Given the description of an element on the screen output the (x, y) to click on. 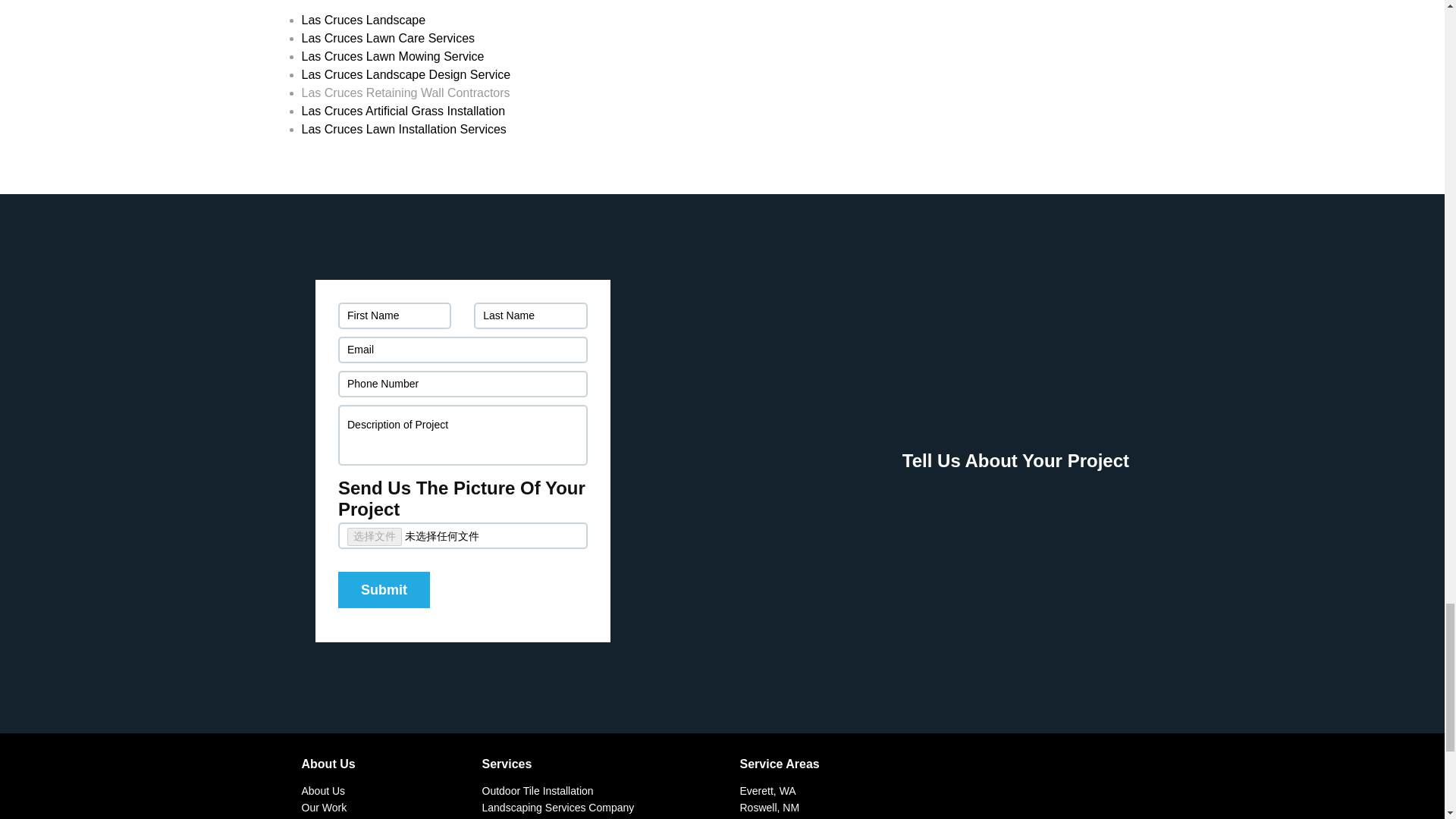
Email (462, 349)
Las Cruces Artificial Grass Installation (403, 110)
Las Cruces Landscape Design Service (406, 74)
First Name (394, 315)
Phone Number (462, 384)
Las Cruces Landscape (363, 19)
Submit (383, 589)
Las Cruces Lawn Mowing Service (392, 56)
Las Cruces Lawn Installation Services (403, 128)
Las Cruces Lawn Care Services (388, 38)
Last Name (530, 315)
